Given the description of an element on the screen output the (x, y) to click on. 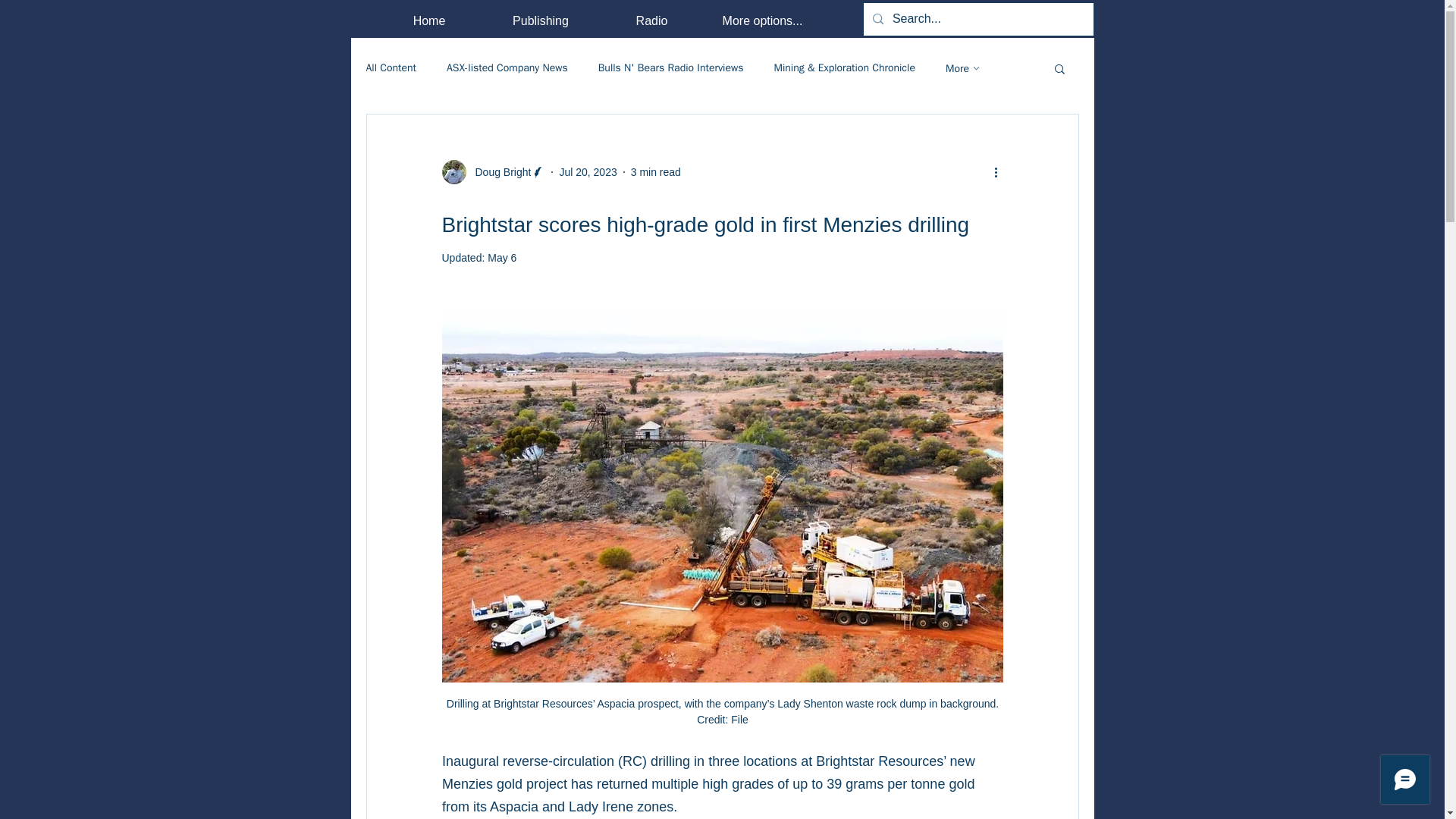
Doug Bright (498, 171)
Doug Bright (492, 171)
Jul 20, 2023 (587, 171)
3 min read (655, 171)
Bulls N' Bears Radio Interviews (671, 68)
Home (428, 20)
ASX-listed Company News (506, 68)
All Content (390, 68)
May 6 (501, 257)
